Given the description of an element on the screen output the (x, y) to click on. 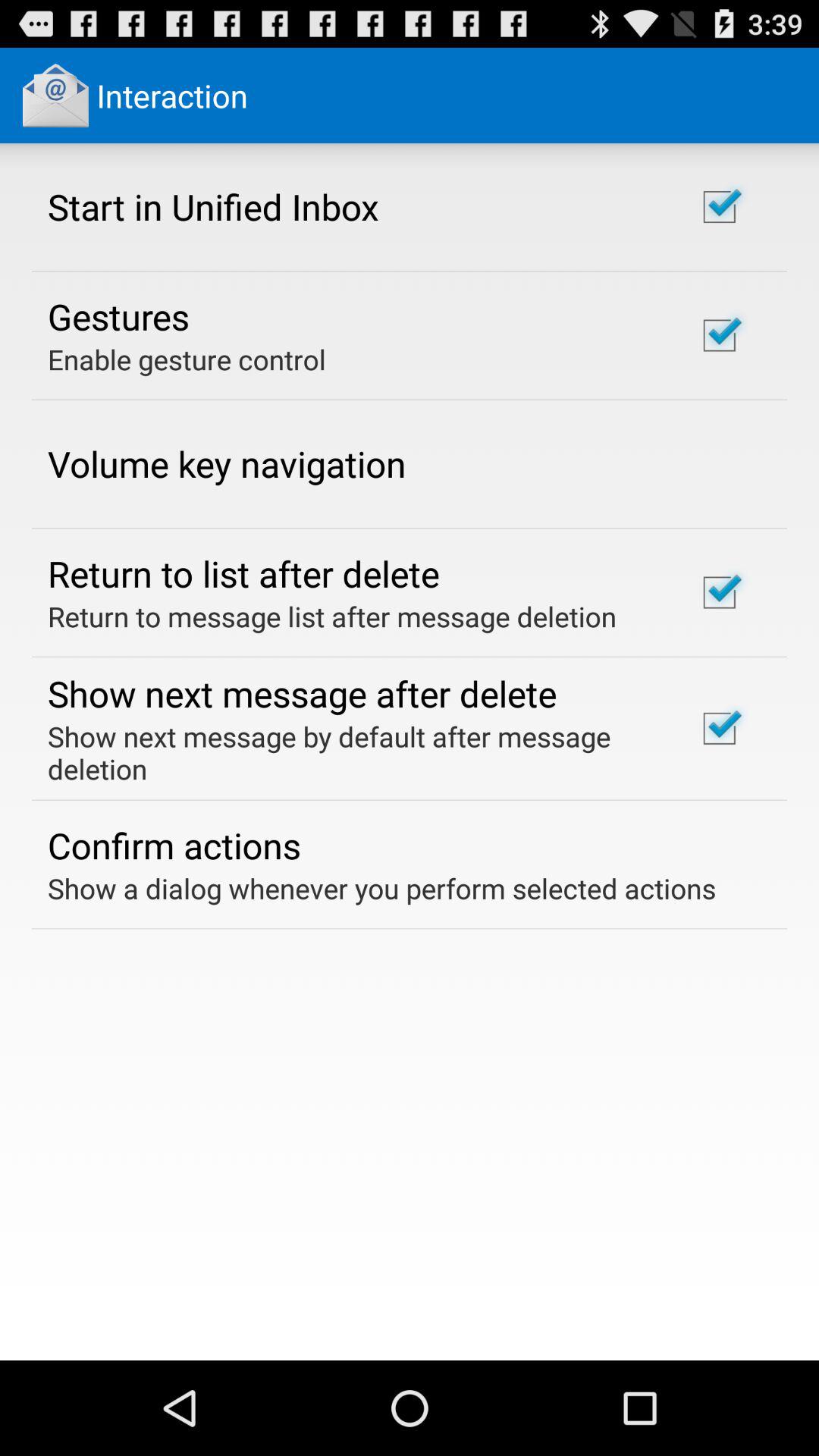
click on the icon beside interaction (56, 95)
click on the first check box (719, 206)
click on the second check box from top (719, 336)
click on the last select button of the page (719, 728)
